Given the description of an element on the screen output the (x, y) to click on. 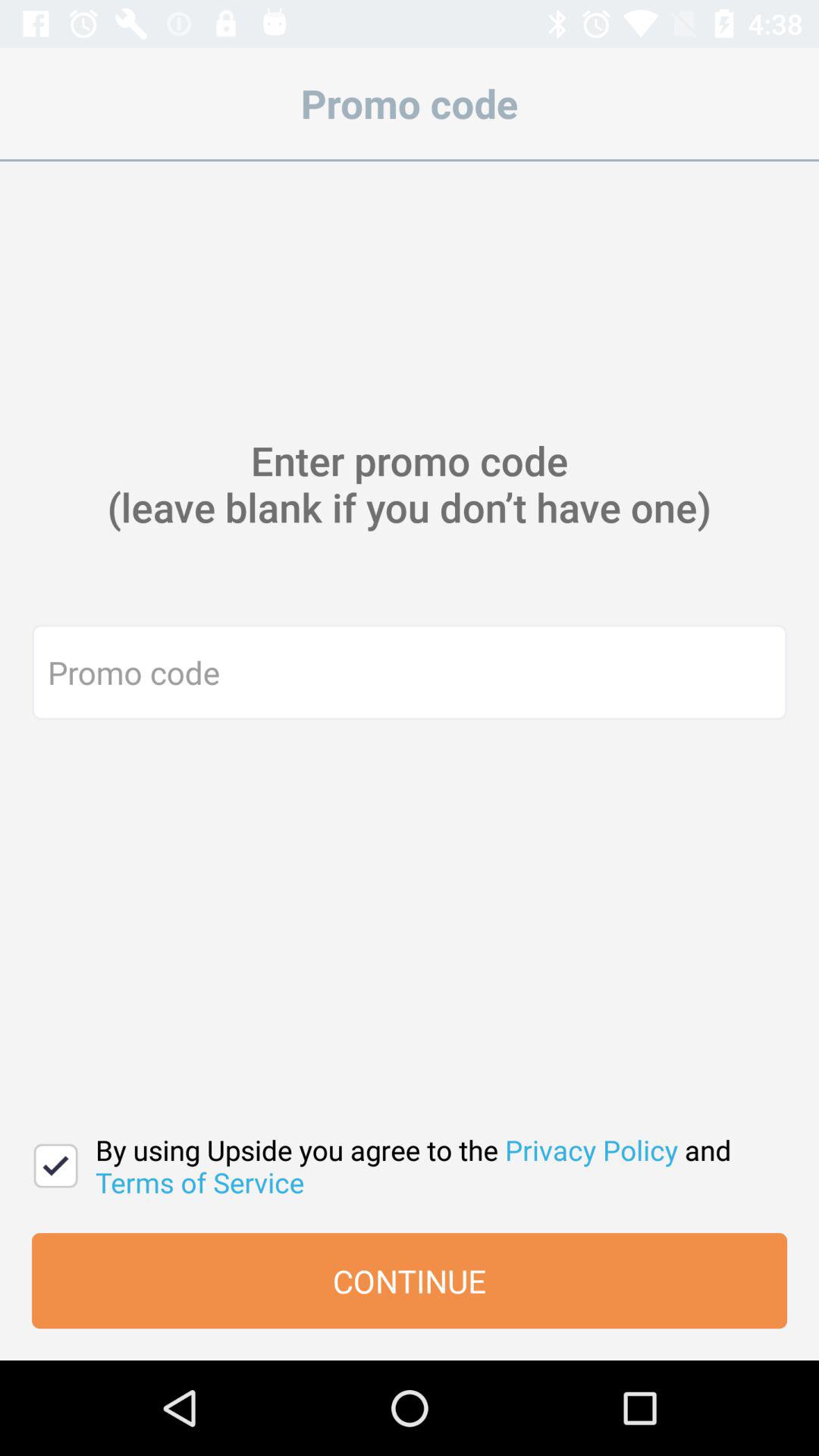
turn on the icon above continue icon (55, 1165)
